Given the description of an element on the screen output the (x, y) to click on. 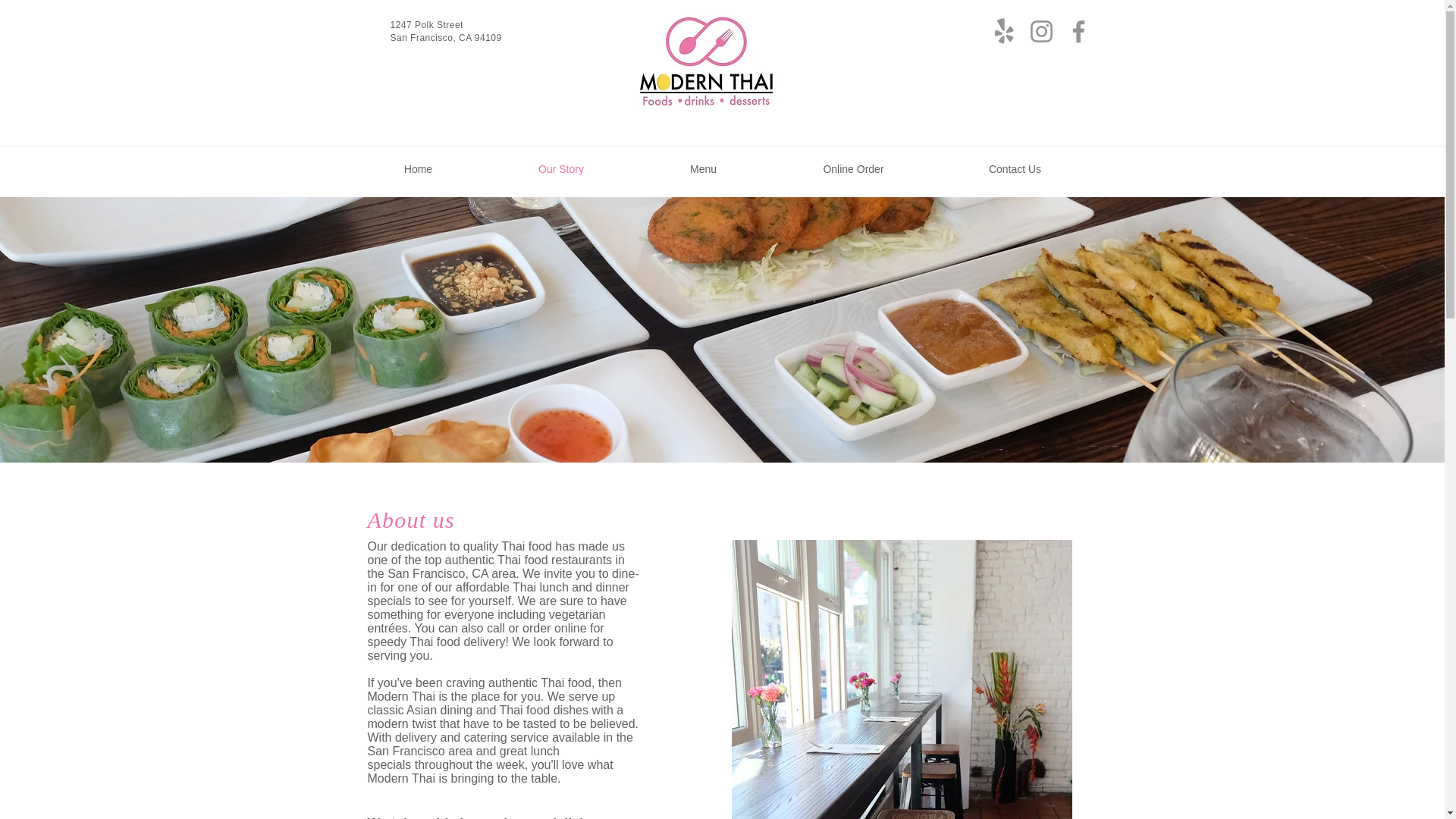
Contact Us (1015, 168)
Our Story (560, 168)
Home (417, 168)
Menu (703, 168)
